Given the description of an element on the screen output the (x, y) to click on. 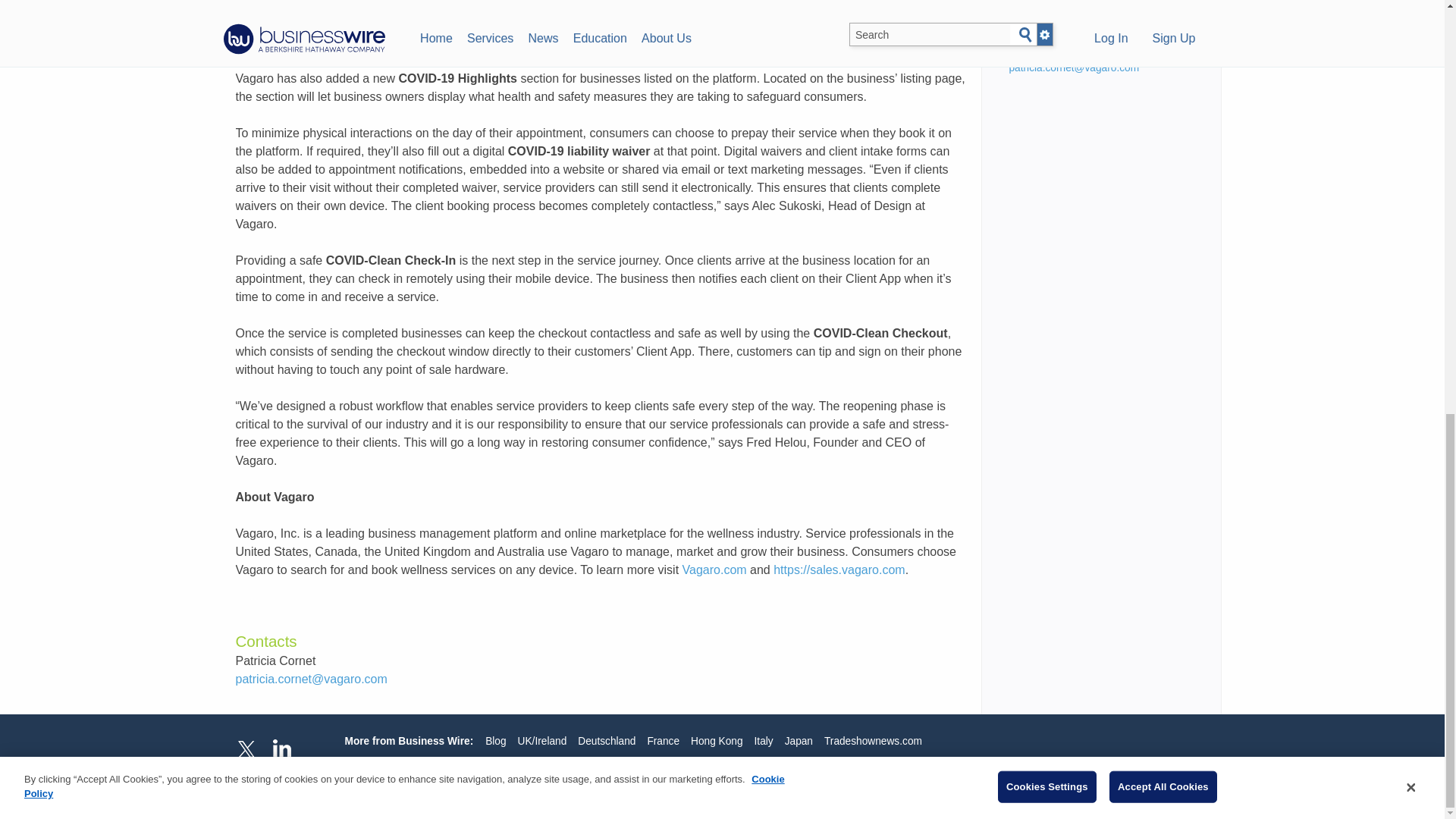
Vagaro.com (714, 569)
